Given the description of an element on the screen output the (x, y) to click on. 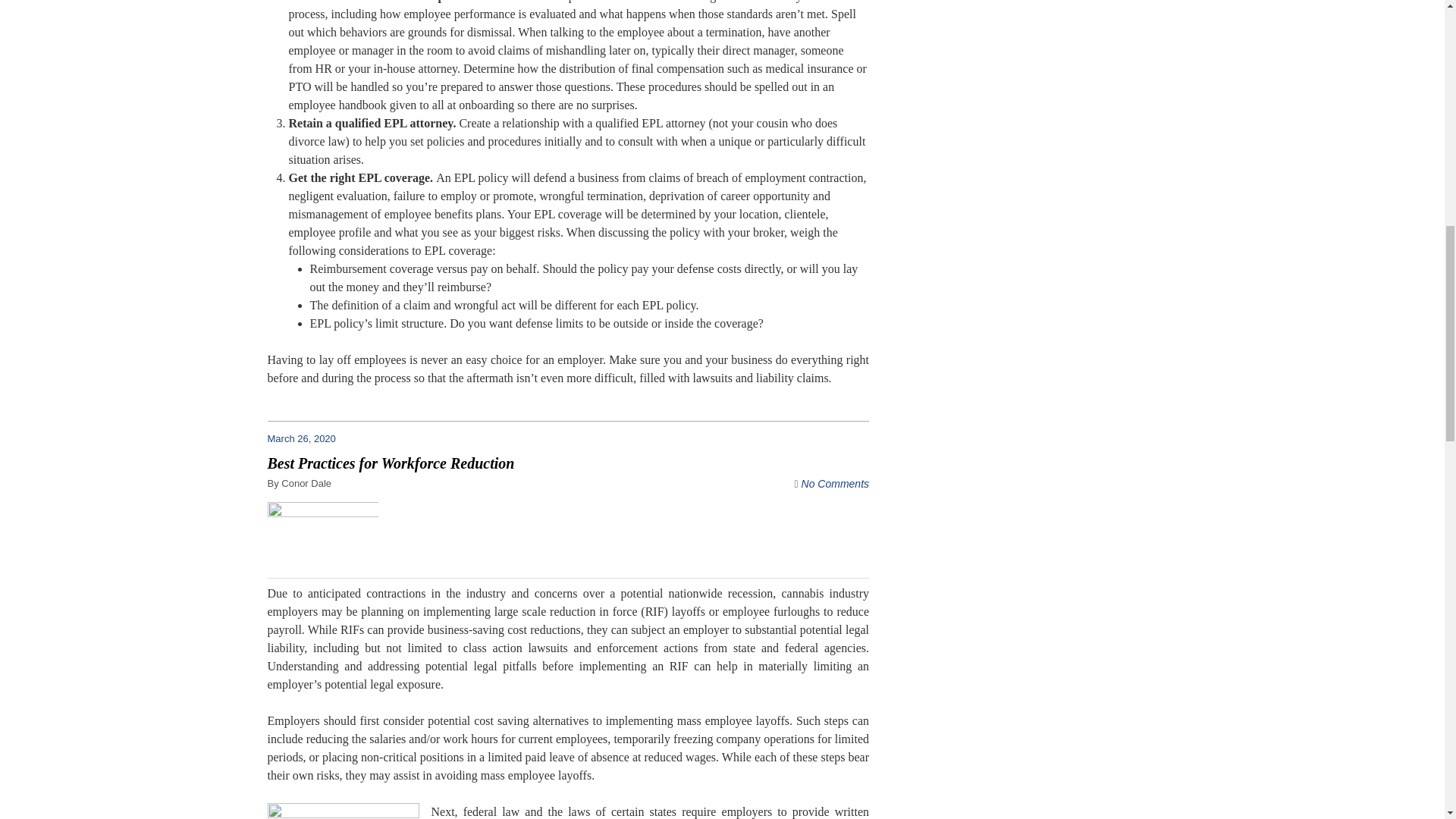
March 26, 2020 (308, 438)
Best Practices for Workforce Reduction (389, 463)
No Comments (835, 483)
